Given the description of an element on the screen output the (x, y) to click on. 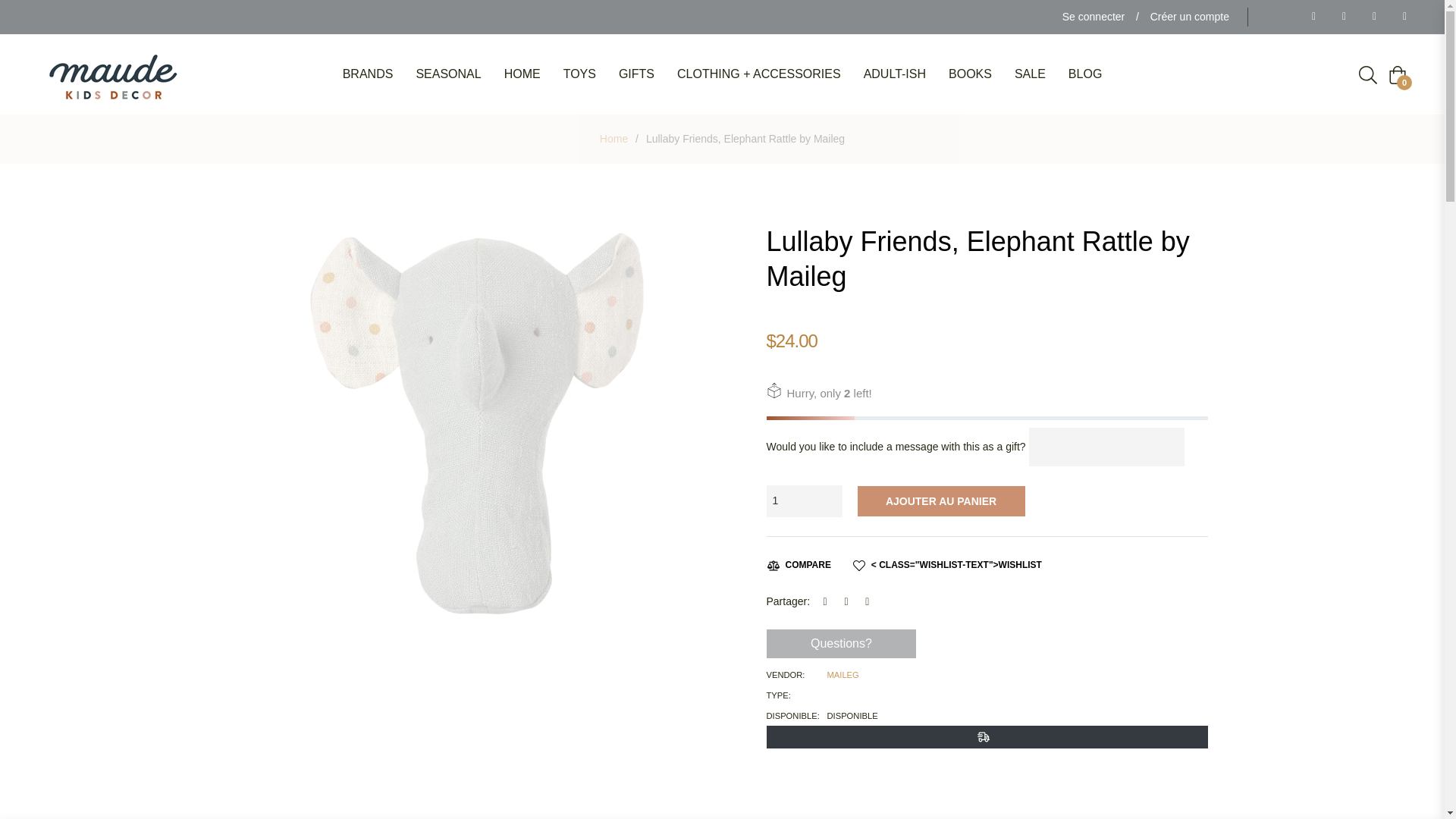
Home (613, 138)
Panier (1397, 75)
Tweeter sur Twitter (850, 601)
Maude Kids Decor sur Twitter (1339, 16)
Maude Kids Decor sur Facebook (1309, 16)
Compare (798, 564)
Maileg (843, 674)
BRANDS (367, 74)
Wishlist (947, 564)
Maude Kids Decor sur Instagram (1400, 16)
